Given the description of an element on the screen output the (x, y) to click on. 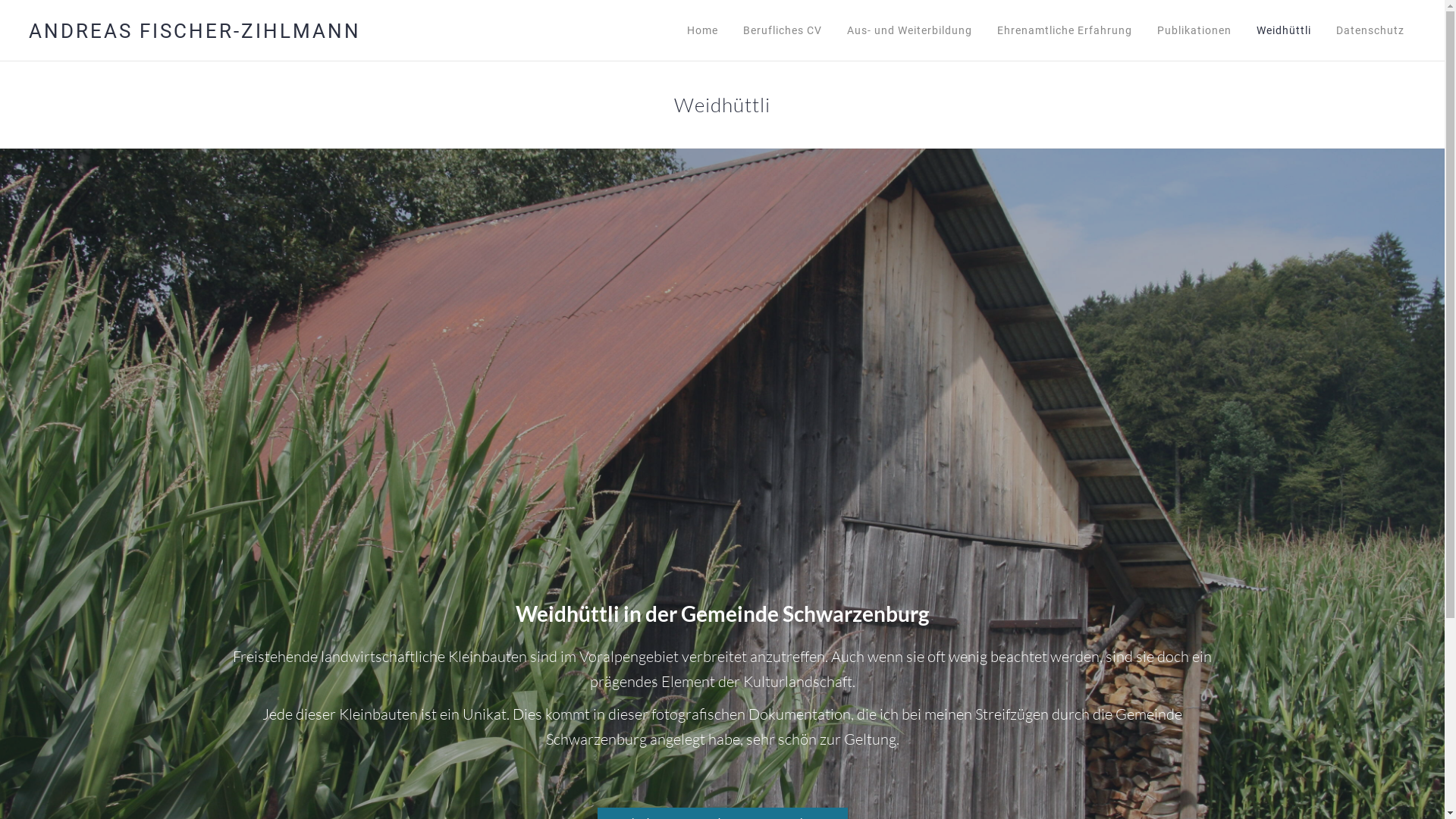
Ehrenamtliche Erfahrung Element type: text (1066, 30)
ANDREAS FISCHER-ZIHLMANN Element type: text (203, 30)
Aus- und Weiterbildung Element type: text (910, 30)
Home Element type: text (701, 30)
Datenschutz Element type: text (1370, 30)
Publikationen Element type: text (1196, 30)
Berufliches CV Element type: text (782, 30)
